Given the description of an element on the screen output the (x, y) to click on. 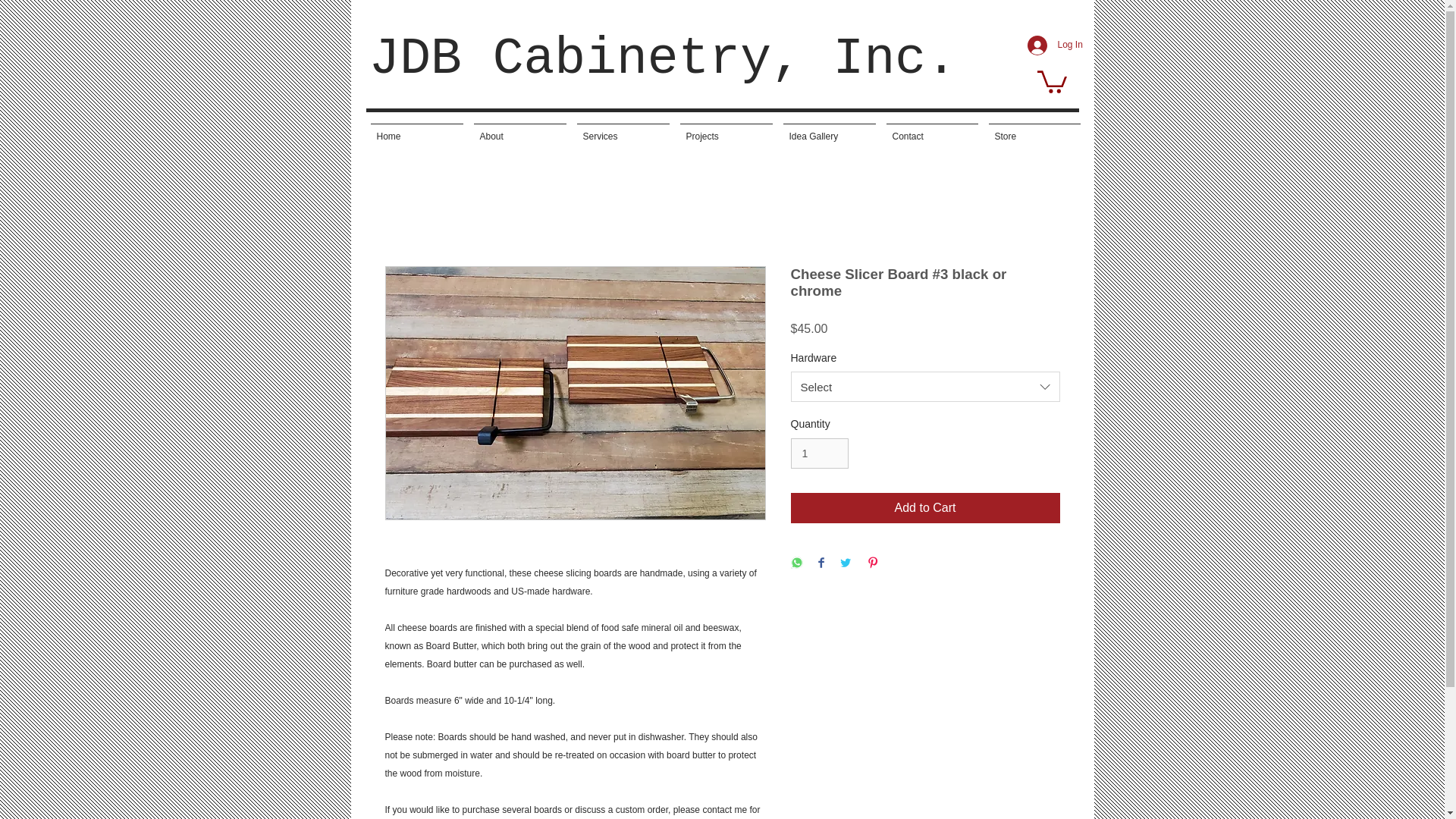
1 (818, 453)
Log In (1047, 45)
Projects (726, 129)
Services (623, 129)
Select (924, 386)
Contact (932, 129)
Home (416, 129)
About (520, 129)
Store (1033, 129)
Add to Cart (924, 508)
Idea Gallery (828, 129)
